Given the description of an element on the screen output the (x, y) to click on. 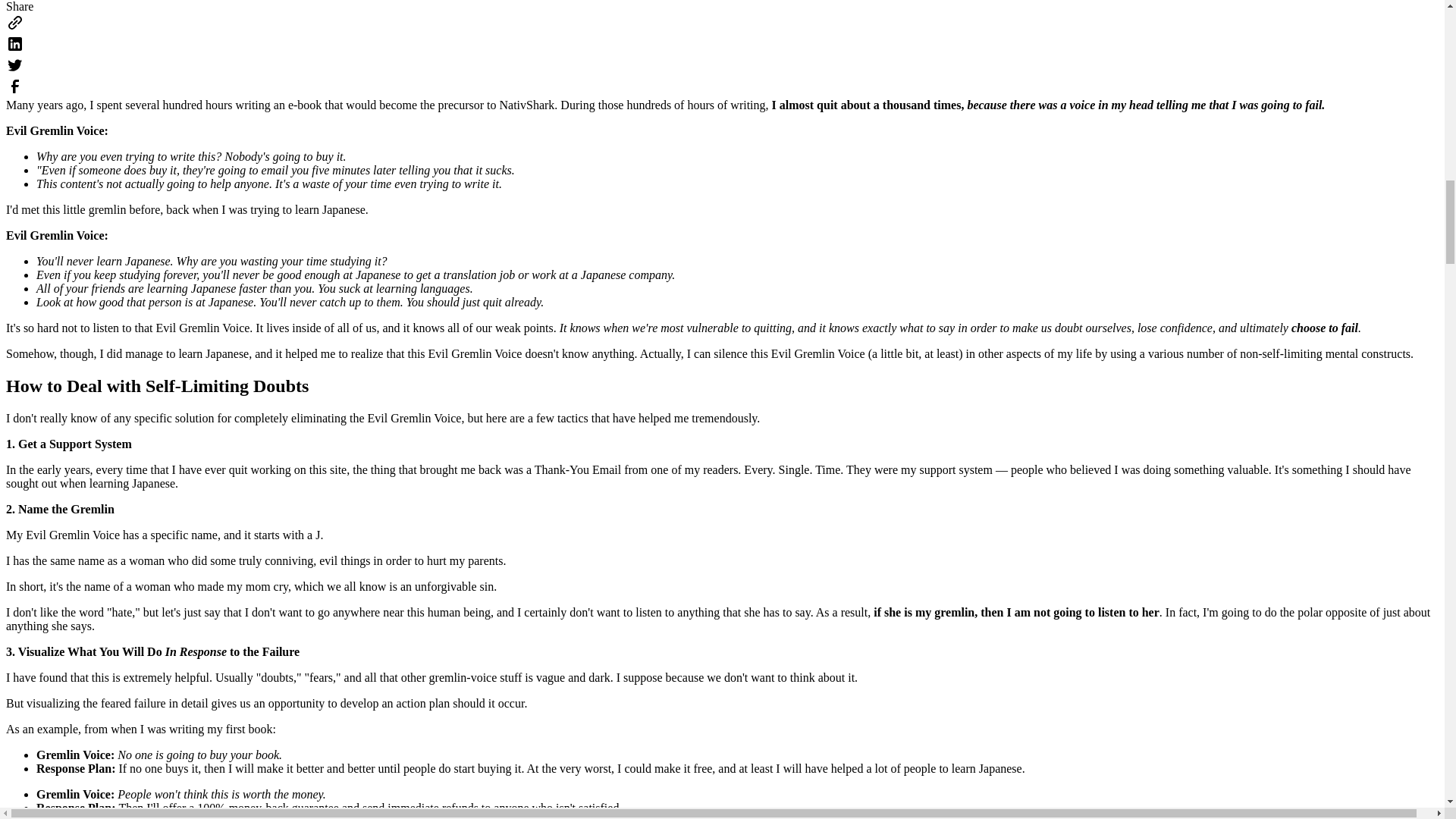
NativShark (526, 104)
